Given the description of an element on the screen output the (x, y) to click on. 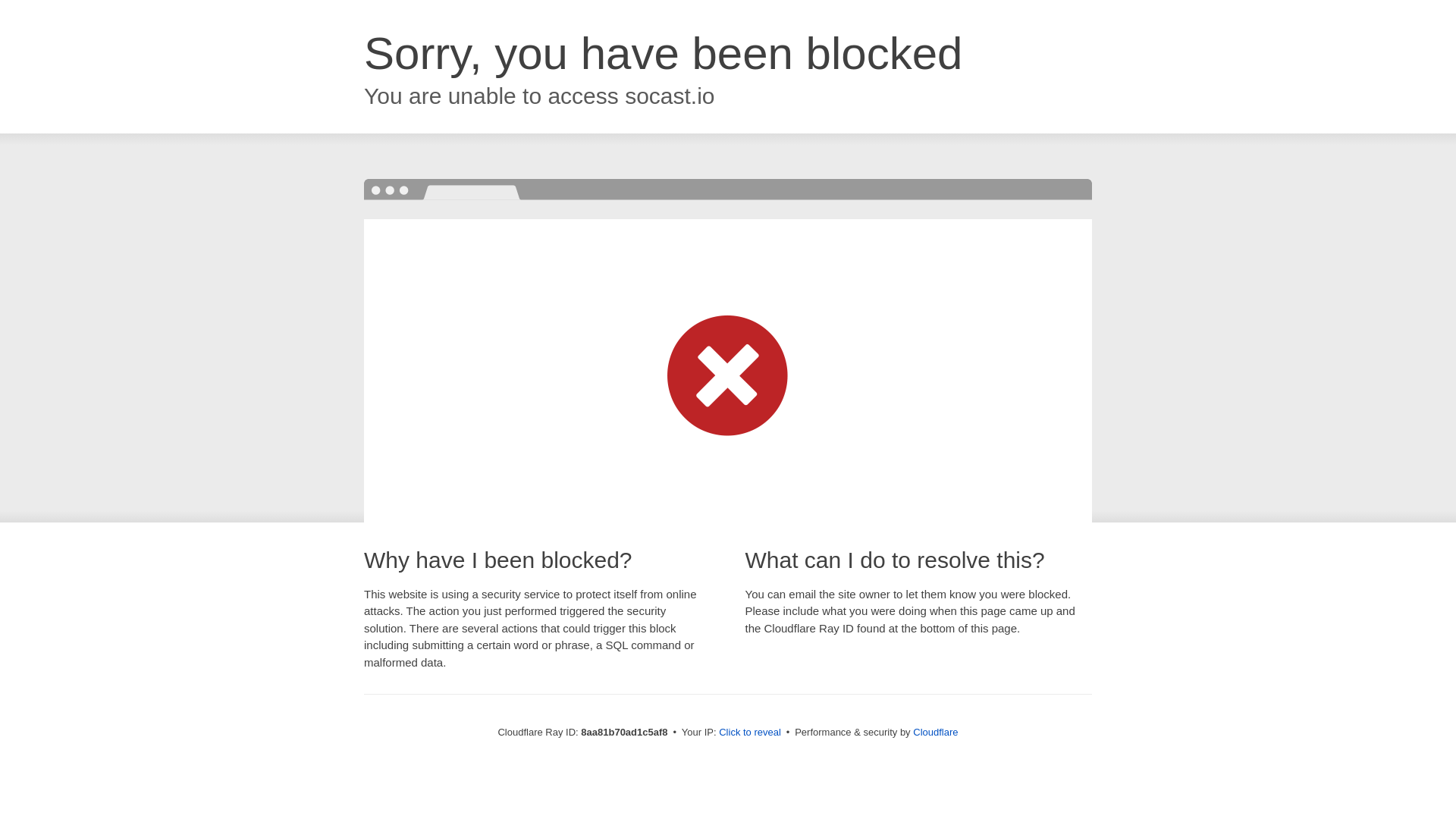
Click to reveal (749, 732)
Cloudflare (935, 731)
